Given the description of an element on the screen output the (x, y) to click on. 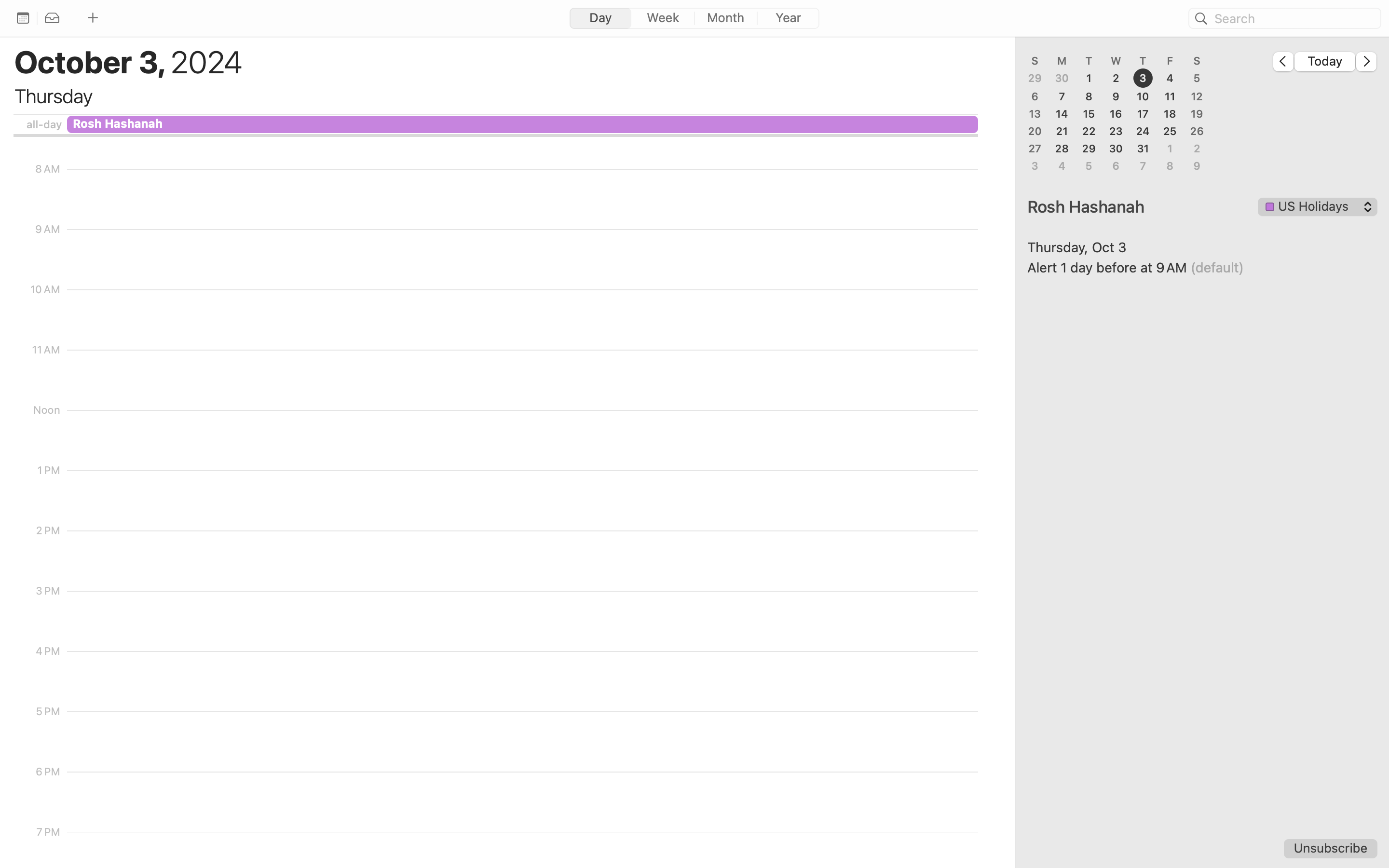
6 Element type: AXStaticText (1034, 96)
Thursday Element type: AXStaticText (53, 96)
26 Element type: AXStaticText (1196, 130)
<AXUIElement 0x1469f5b80> {pid=1173} Element type: AXRadioGroup (693, 18)
